Given the description of an element on the screen output the (x, y) to click on. 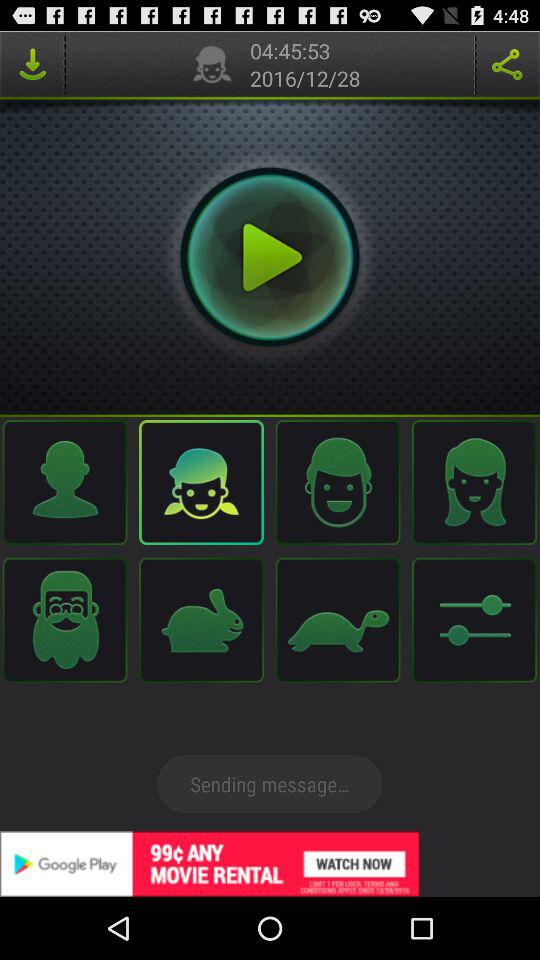
play sounds (270, 257)
